Given the description of an element on the screen output the (x, y) to click on. 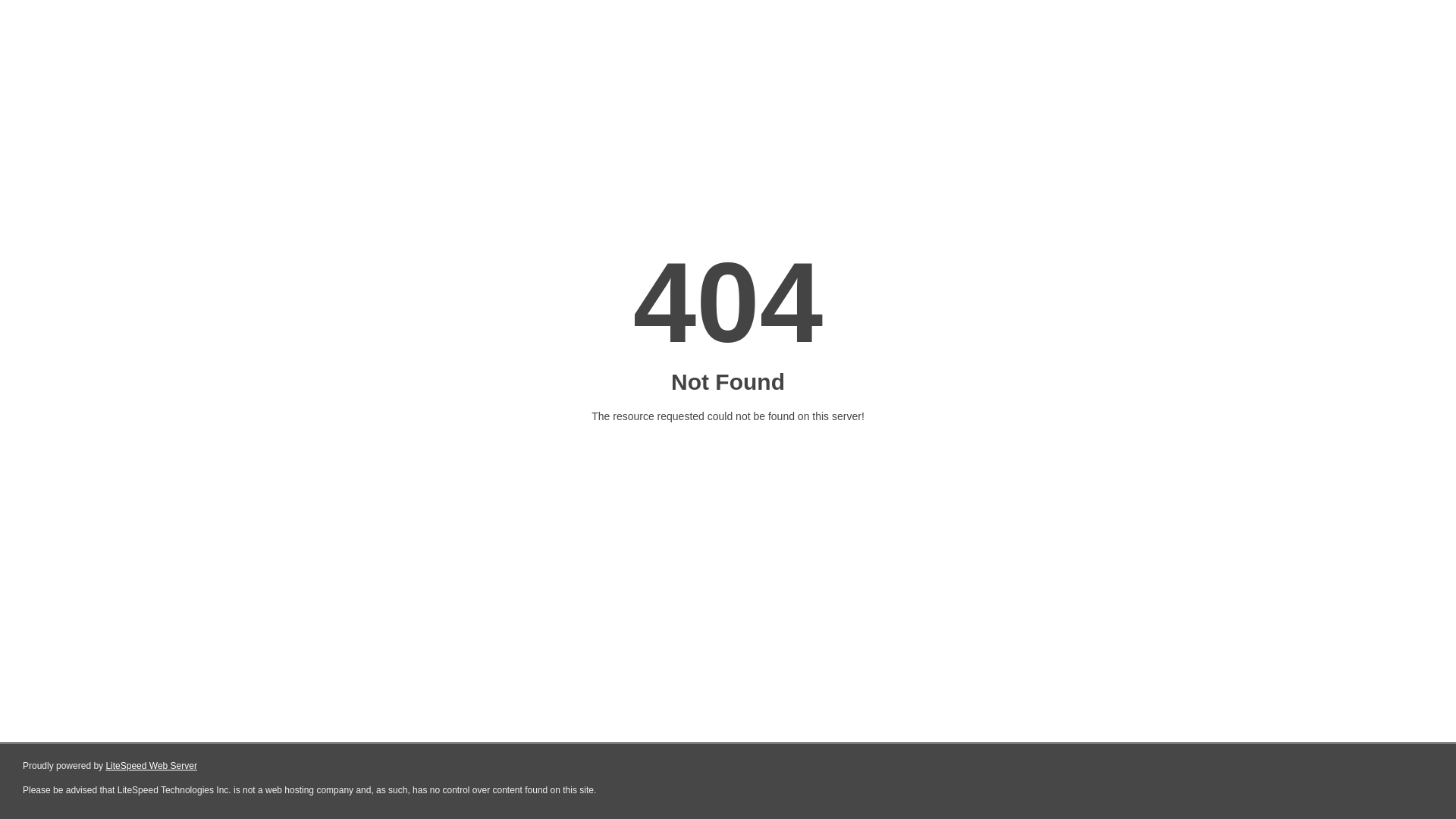
LiteSpeed Web Server Element type: text (151, 765)
